Given the description of an element on the screen output the (x, y) to click on. 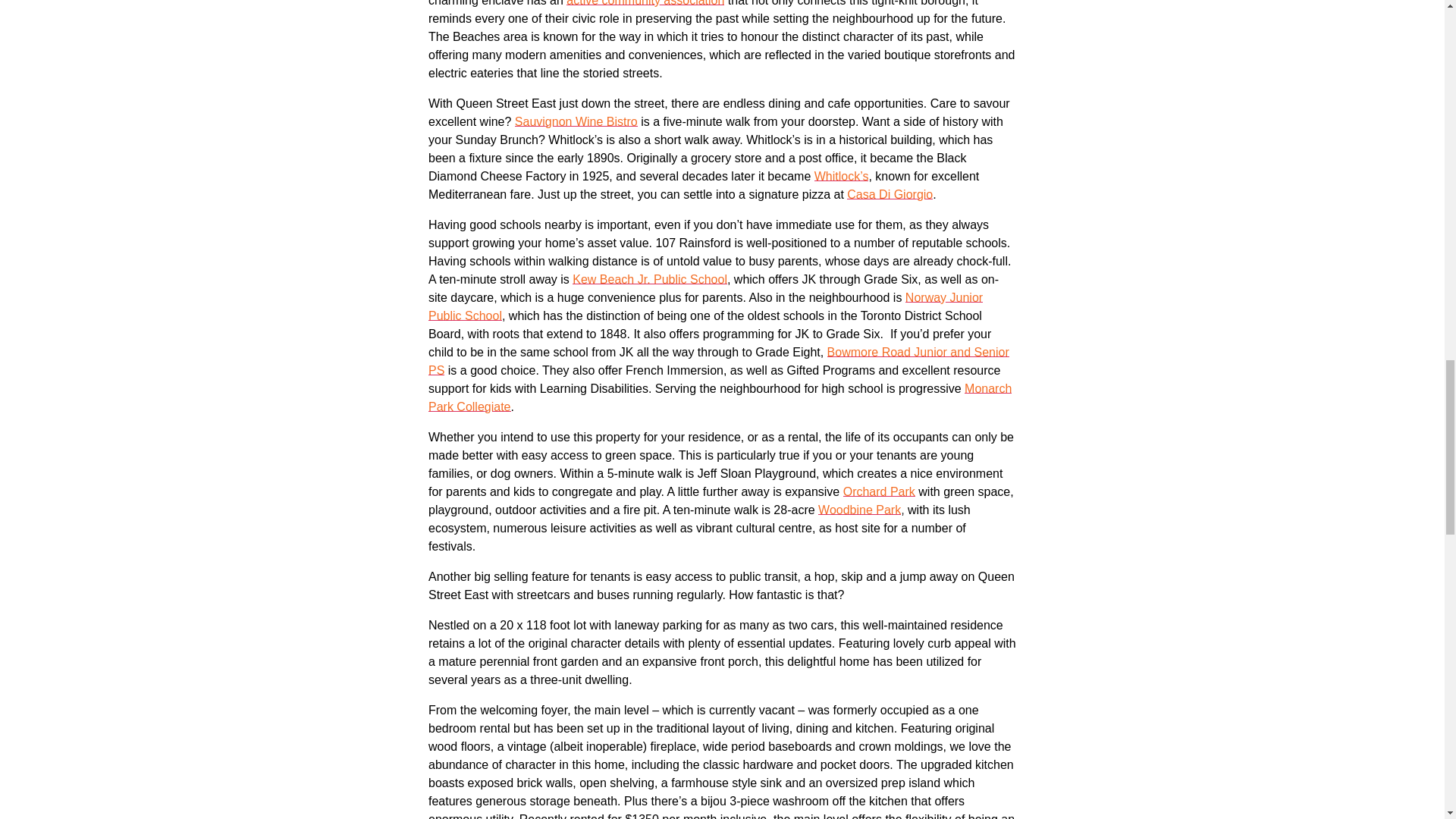
Casa Di Giorgio (890, 194)
Kew Beach Jr. Public School (649, 278)
Monarch Park Collegiate (719, 397)
Woodbine Park (859, 509)
Bowmore Road Junior and Senior PS (718, 360)
Norway Junior Public School (705, 306)
active community association (644, 3)
Orchard Park (879, 491)
Sauvignon Wine Bistro (576, 121)
